Given the description of an element on the screen output the (x, y) to click on. 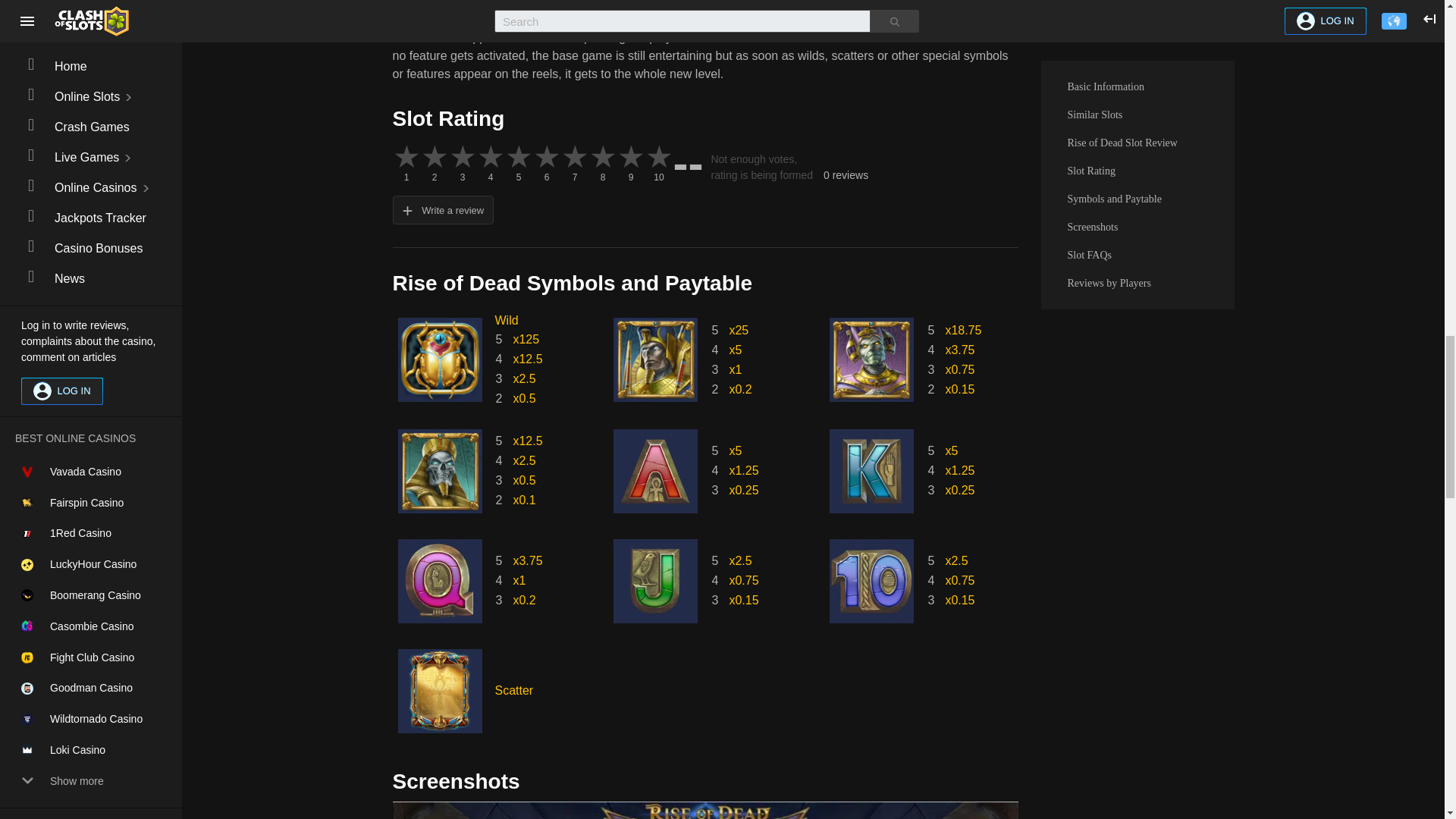
0 reviews (845, 175)
